Given the description of an element on the screen output the (x, y) to click on. 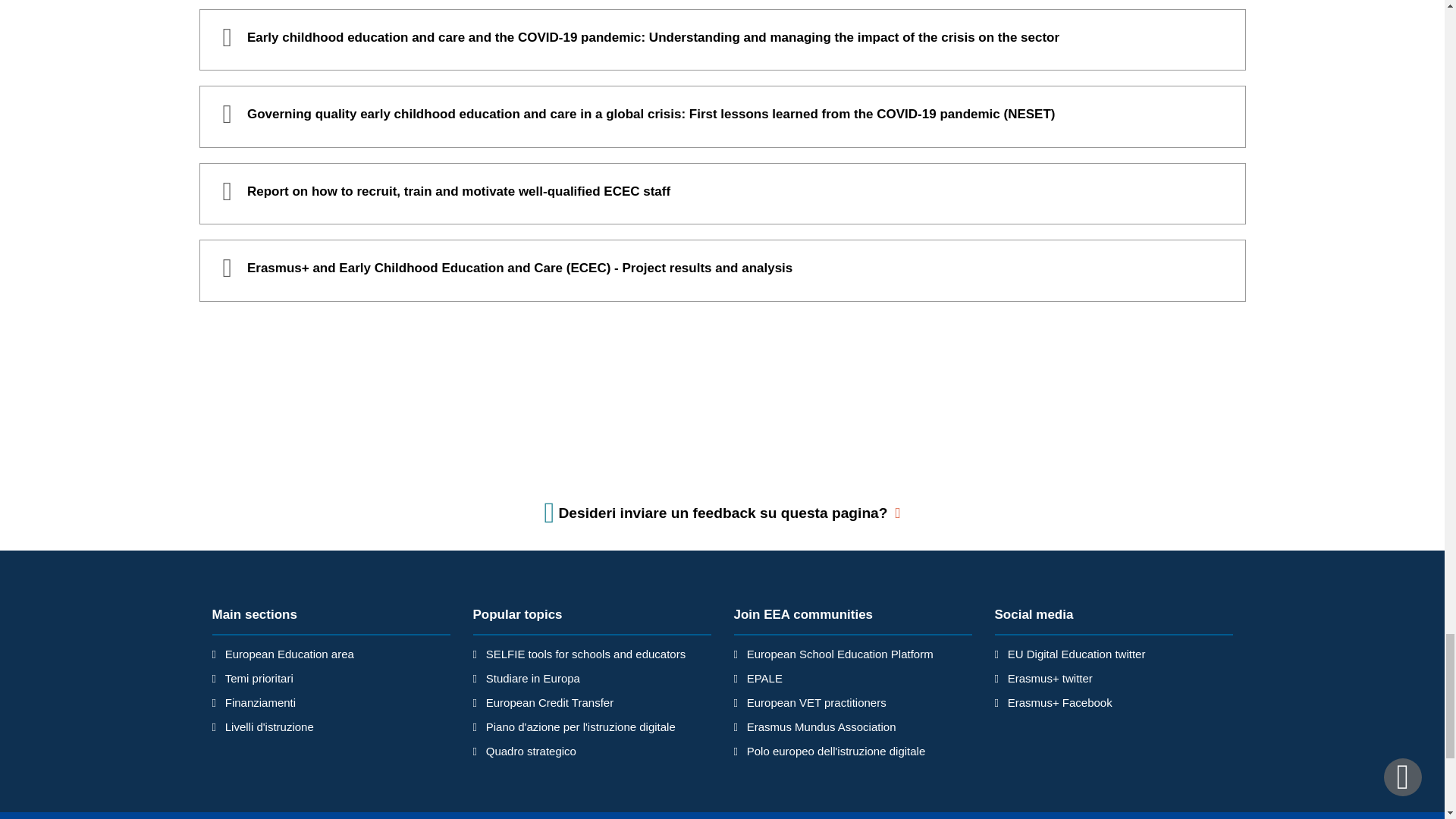
Desideri inviare un feedback su questa pagina? (722, 512)
